Given the description of an element on the screen output the (x, y) to click on. 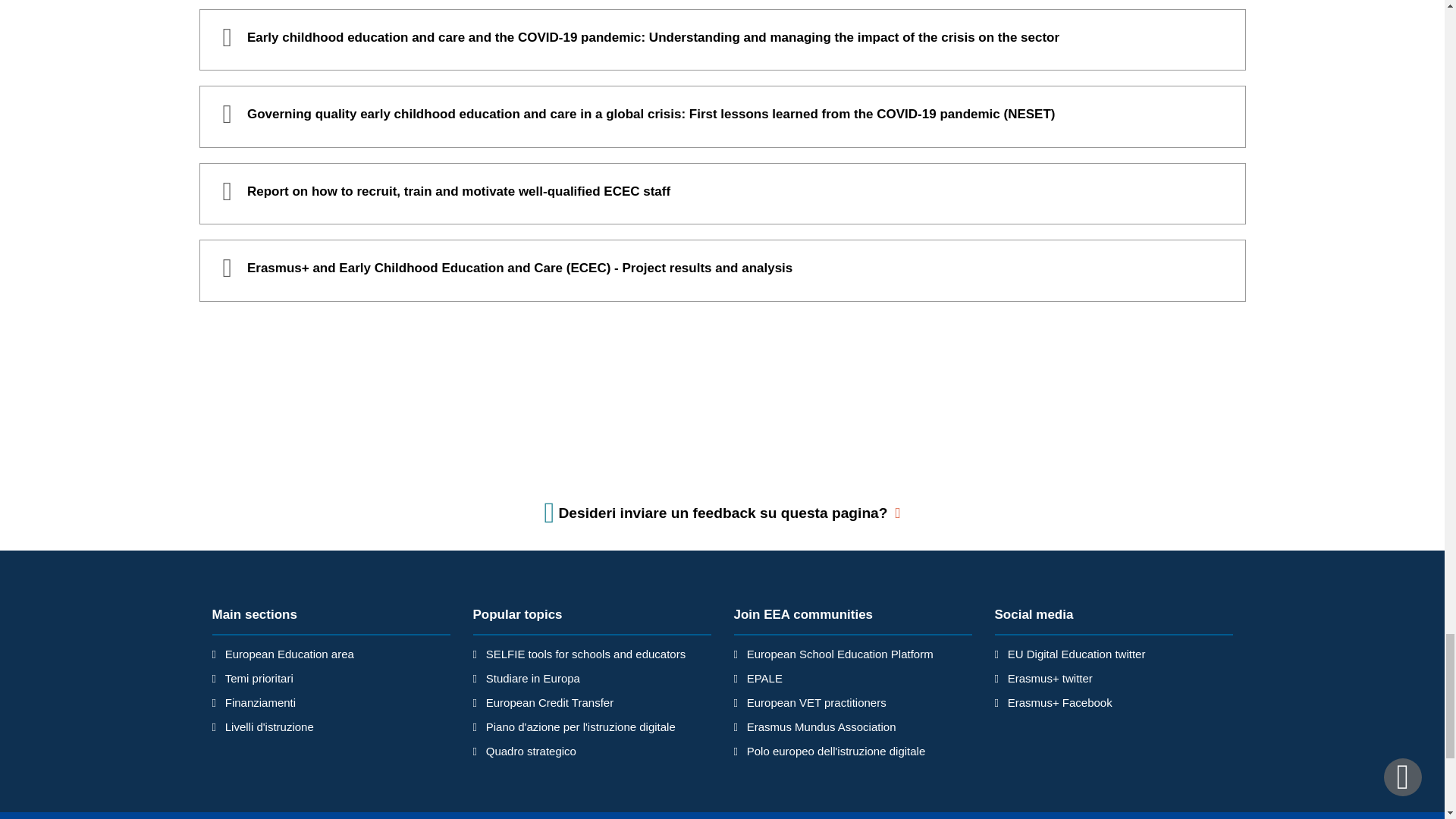
Desideri inviare un feedback su questa pagina? (722, 512)
